Given the description of an element on the screen output the (x, y) to click on. 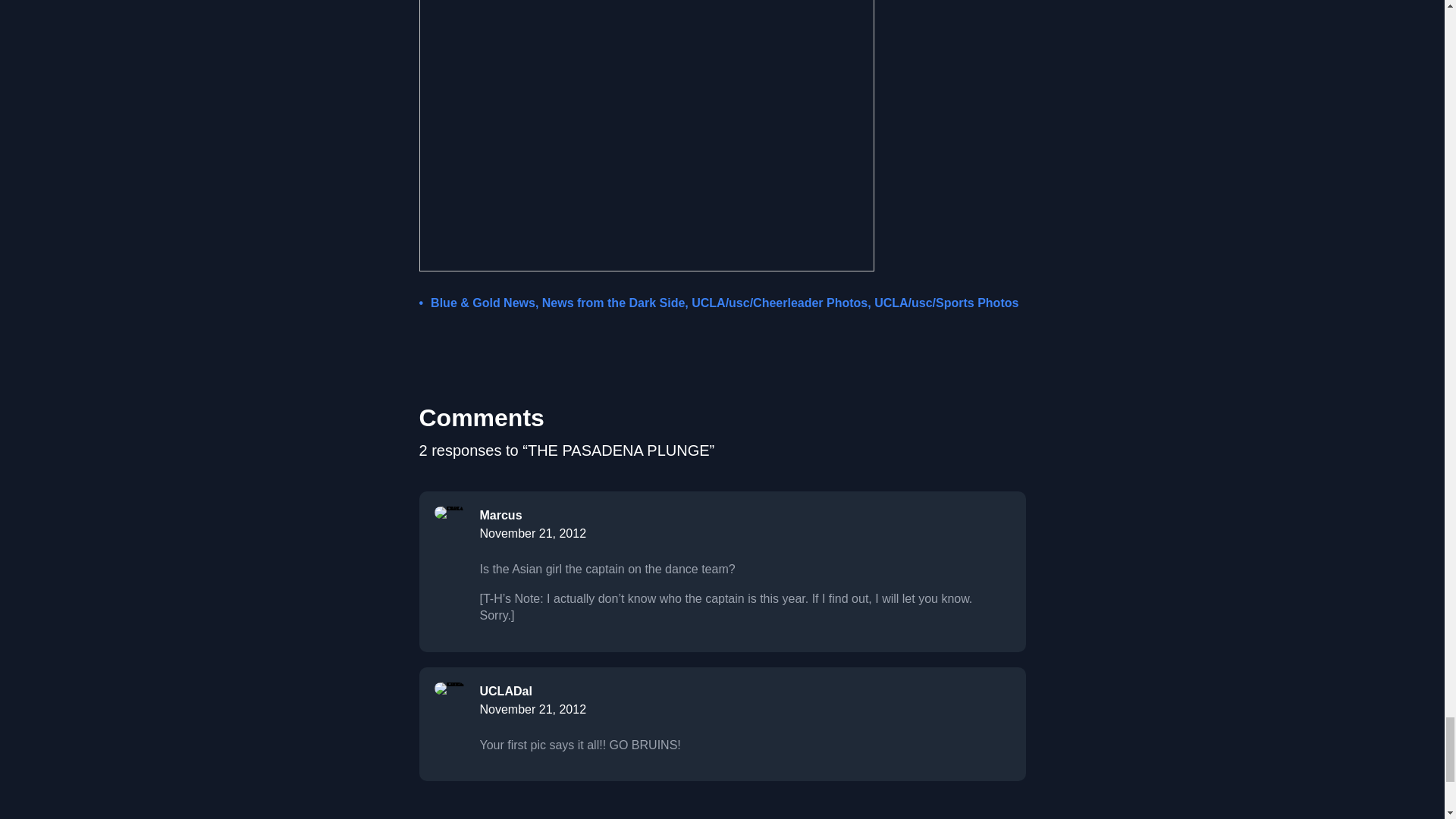
November 21, 2012 (532, 533)
November 21, 2012 (532, 708)
News from the Dark Side (613, 302)
